Given the description of an element on the screen output the (x, y) to click on. 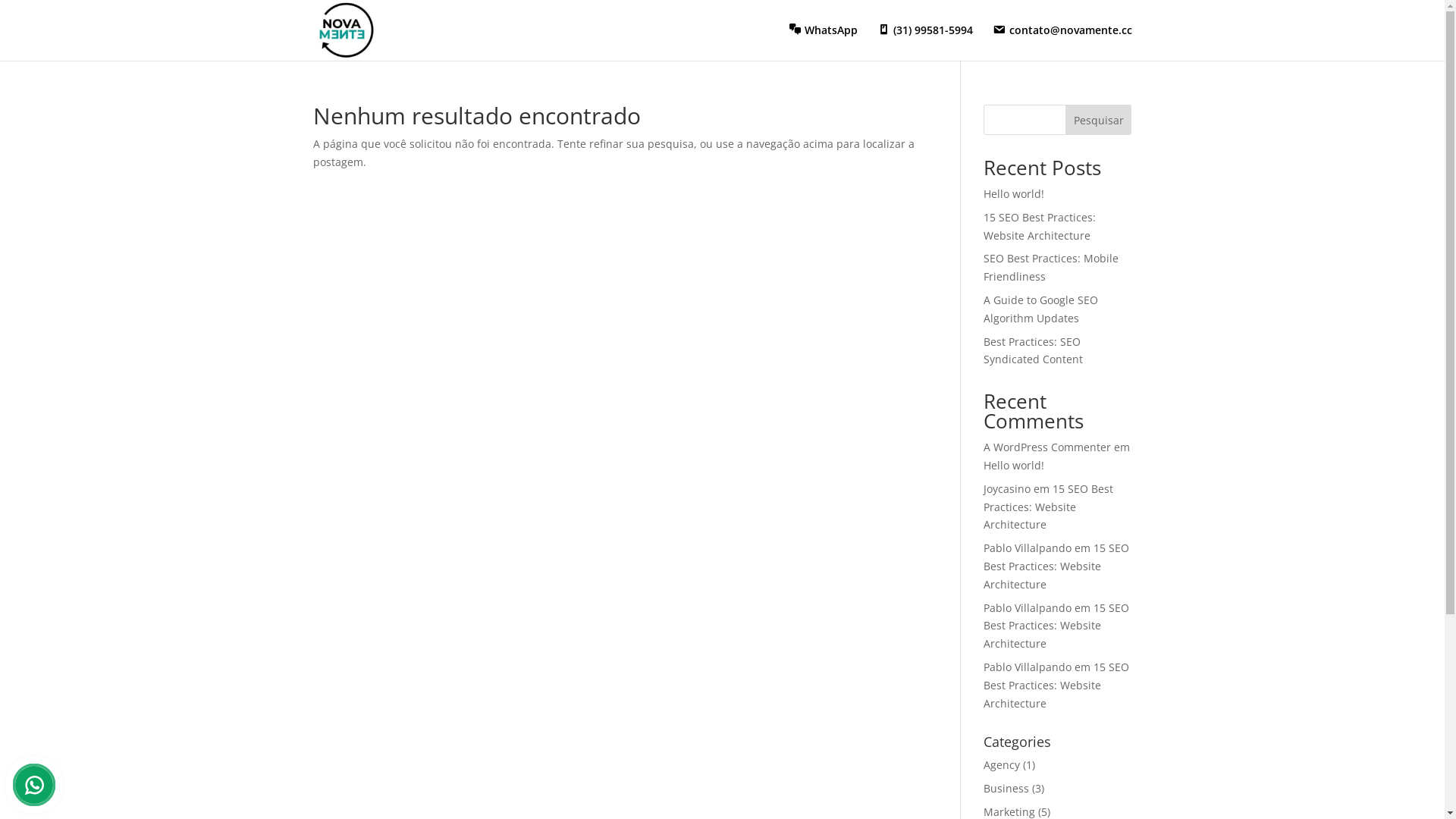
Best Practices: SEO Syndicated Content Element type: text (1032, 350)
Agency Element type: text (1001, 764)
15 SEO Best Practices: Website Architecture Element type: text (1039, 226)
Pesquisar Element type: text (1098, 119)
15 SEO Best Practices: Website Architecture Element type: text (1056, 565)
15 SEO Best Practices: Website Architecture Element type: text (1048, 506)
contato@novamente.cc Element type: text (1061, 42)
Business Element type: text (1006, 788)
SEO Best Practices: Mobile Friendliness Element type: text (1050, 267)
15 SEO Best Practices: Website Architecture Element type: text (1056, 684)
Hello world! Element type: text (1013, 193)
A WordPress Commenter Element type: text (1046, 446)
Hello world! Element type: text (1013, 465)
WhatsApp Element type: text (822, 42)
A Guide to Google SEO Algorithm Updates Element type: text (1040, 308)
15 SEO Best Practices: Website Architecture Element type: text (1056, 625)
(31) 99581-5994 Element type: text (924, 42)
